Given the description of an element on the screen output the (x, y) to click on. 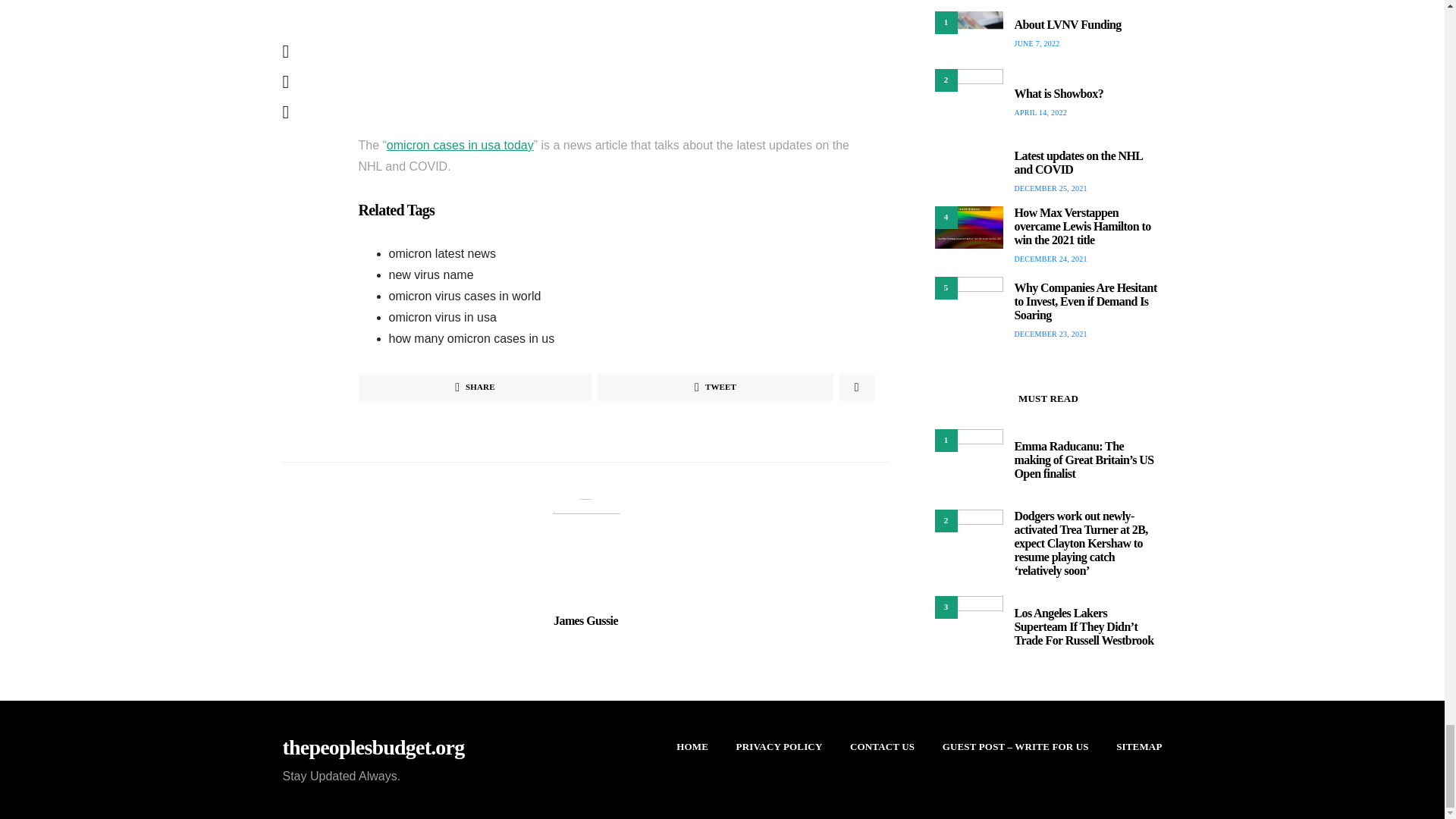
James Gussie (585, 620)
omicron cases in usa today (460, 144)
TWEET (714, 387)
YouTube video player (615, 52)
SHARE (474, 387)
